Given the description of an element on the screen output the (x, y) to click on. 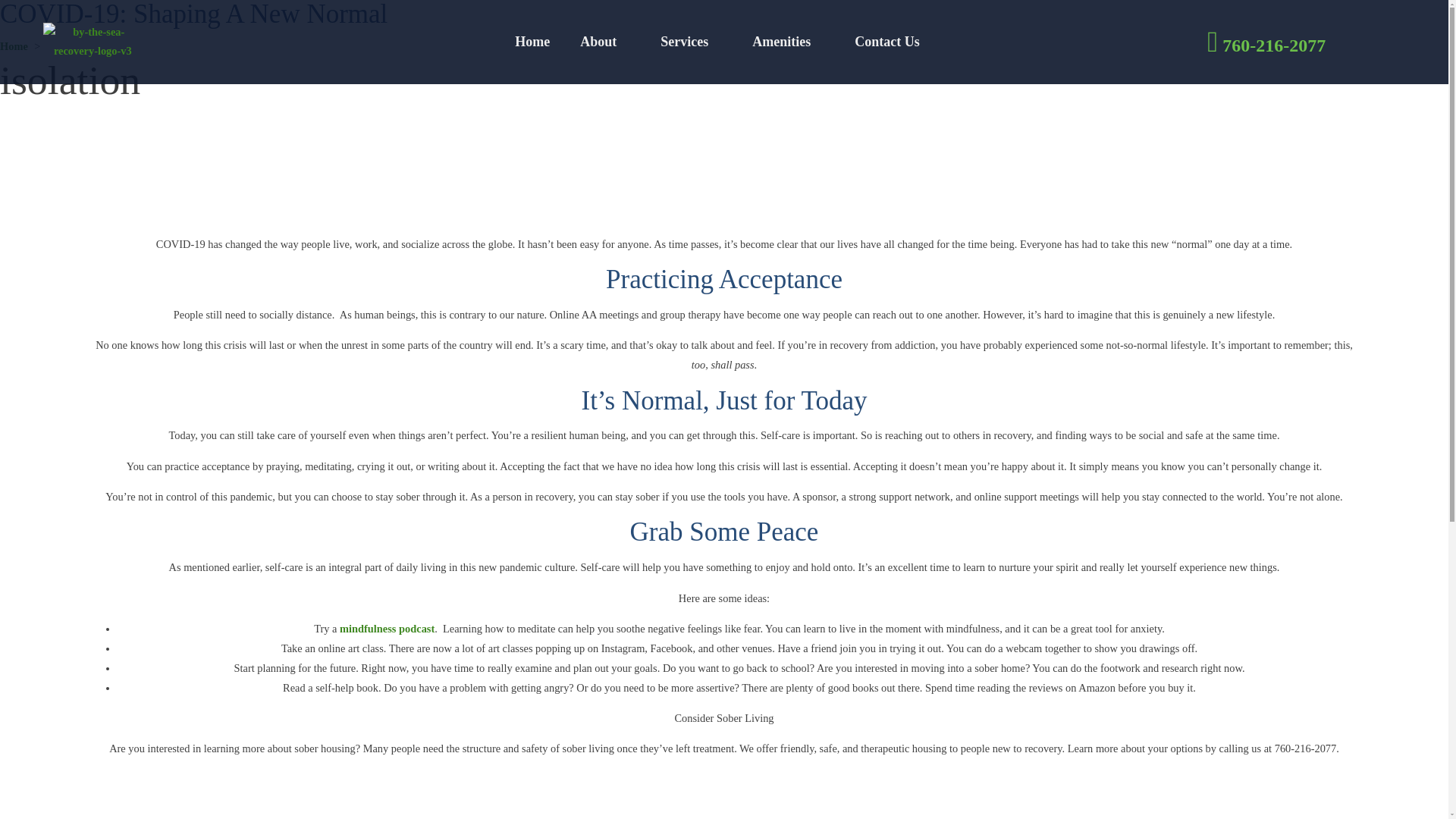
Home (13, 45)
Home (531, 41)
Amenities (788, 41)
About (604, 41)
Contact Us (894, 41)
Services (690, 41)
mindfulness podcast (386, 628)
760-216-2077 (1268, 41)
